Given the description of an element on the screen output the (x, y) to click on. 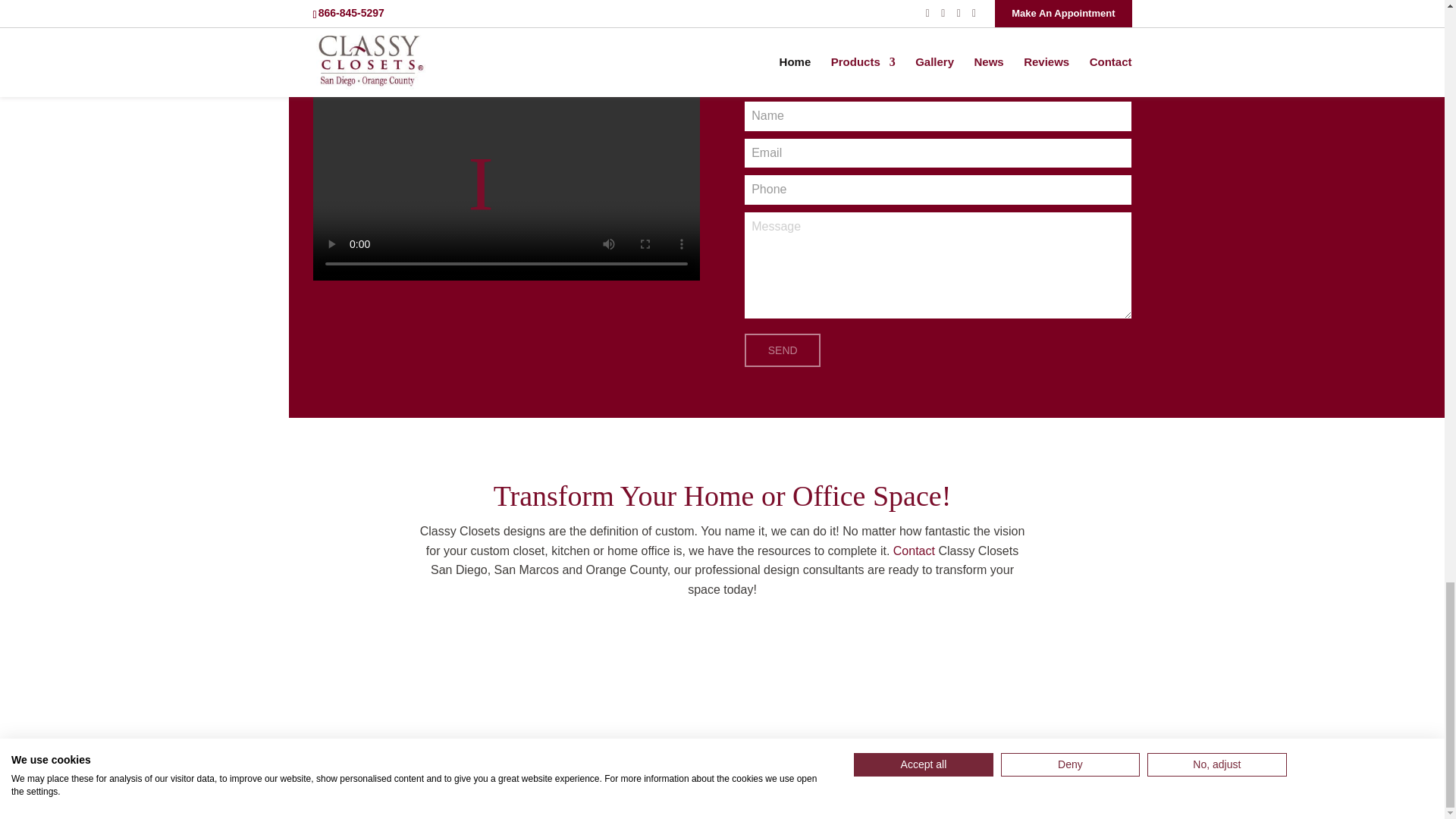
Follow on Twitter (1118, 772)
Follow on Facebook (1088, 772)
